Given the description of an element on the screen output the (x, y) to click on. 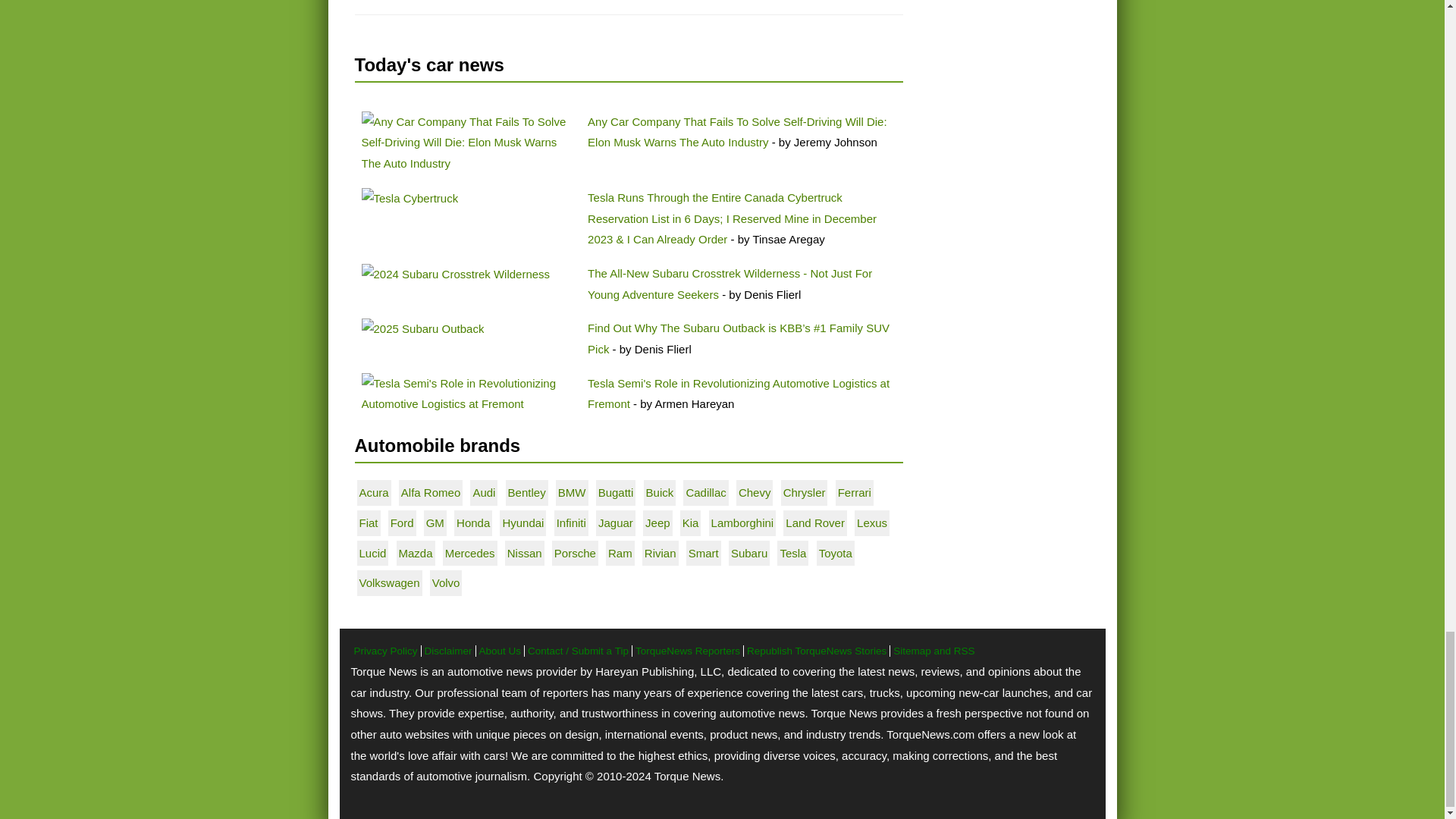
2025 Subaru Outback Wilderness in the dirt (422, 328)
2024 Subaru Crosstrek Wilderness at REI event (455, 274)
